Given the description of an element on the screen output the (x, y) to click on. 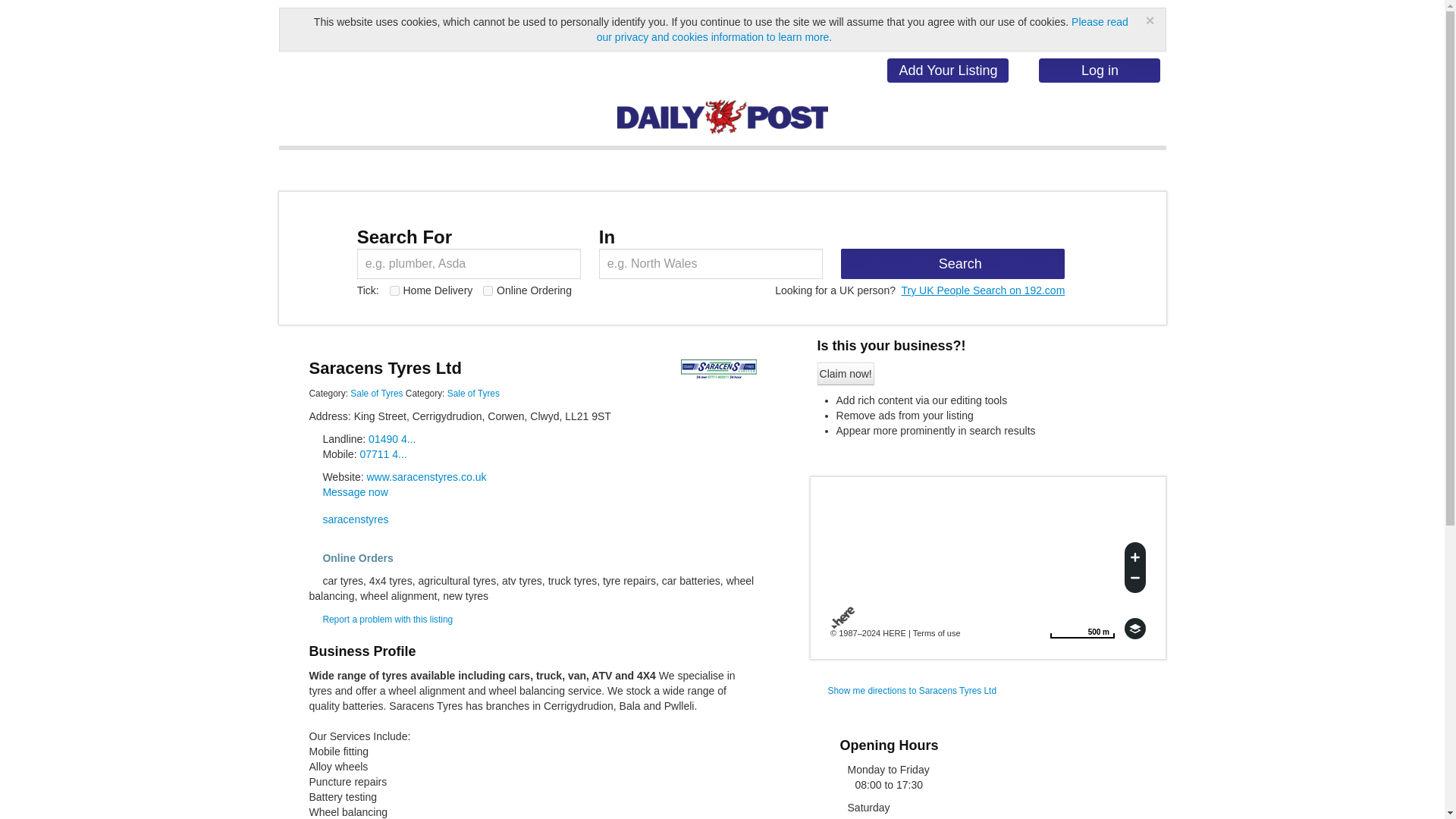
Message now (354, 491)
Sale of Tyres (376, 393)
Search (952, 263)
Add Your Listing (947, 70)
show me more (376, 393)
Report a problem with this listing (1082, 628)
click to show number (386, 619)
01490 4... (391, 439)
Log in (391, 439)
Choose view (1099, 70)
show me more (1134, 628)
Sale of Tyres (472, 393)
www.saracenstyres.co.uk (472, 393)
saracenstyres (426, 476)
